Given the description of an element on the screen output the (x, y) to click on. 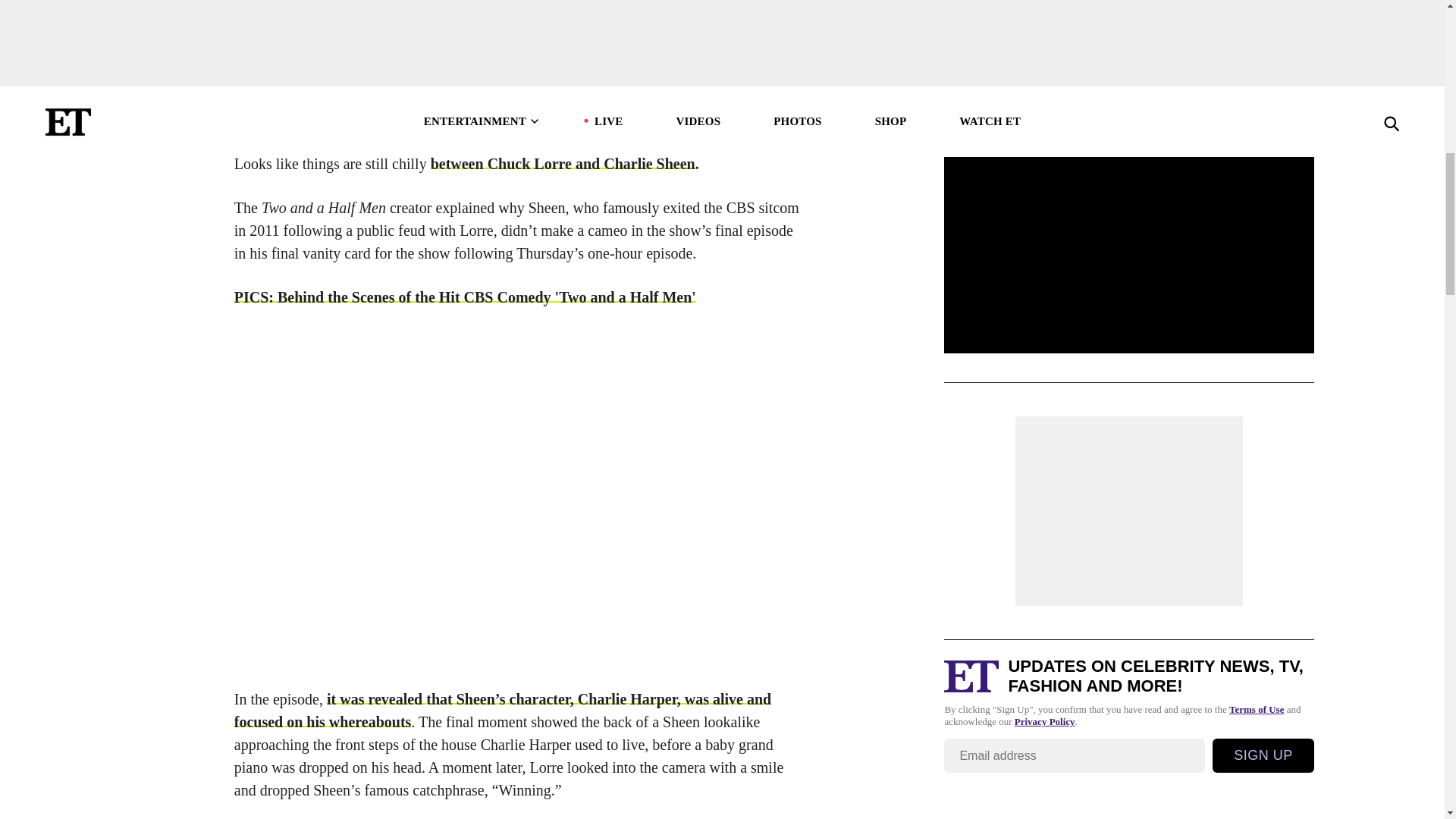
between Chuck Lorre and Charlie Sheen (562, 163)
Terms of Use (1256, 58)
Privacy Policy (1044, 70)
SIGN UP (1263, 103)
